Given the description of an element on the screen output the (x, y) to click on. 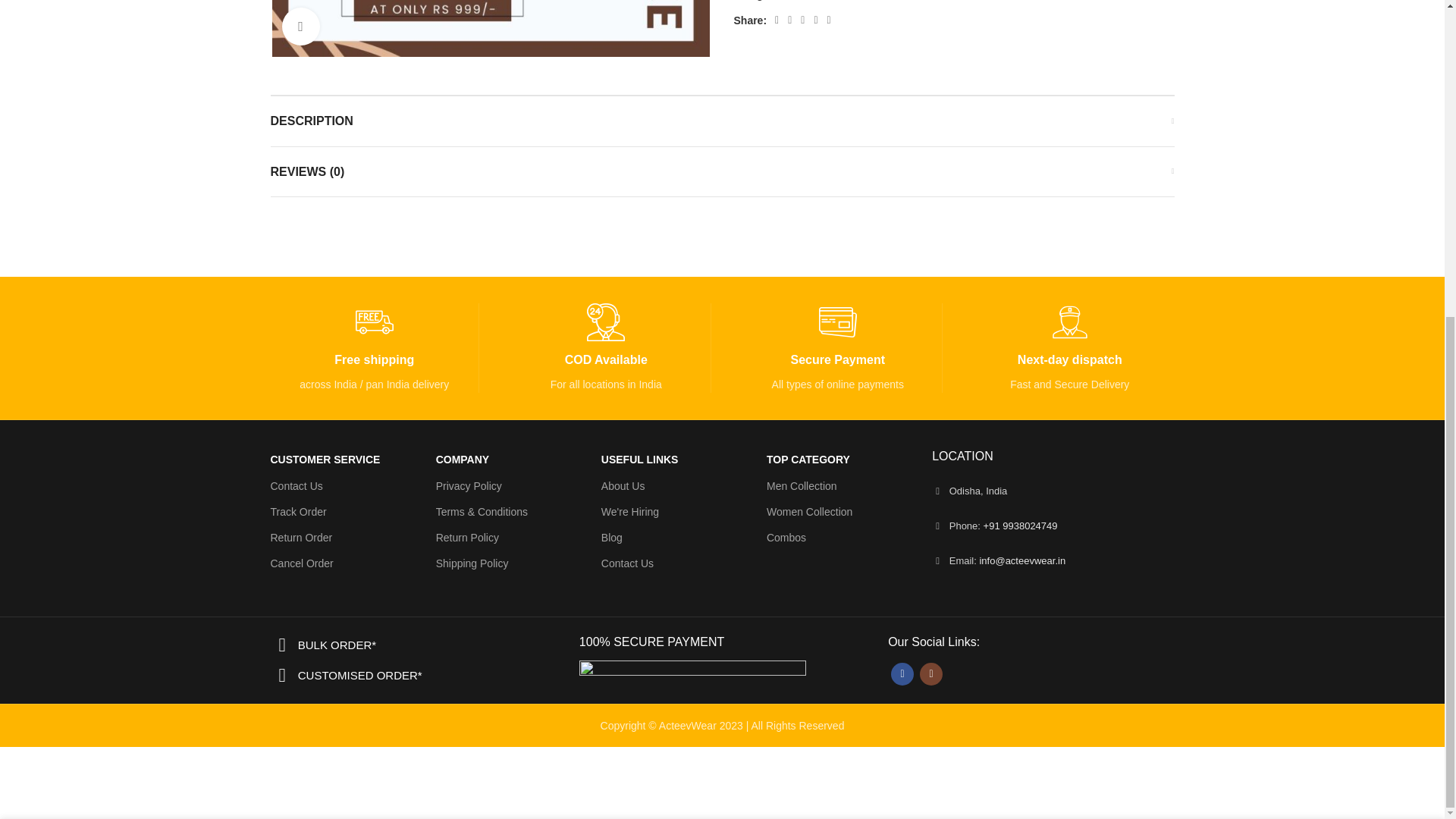
retail-free-shipping.png (374, 322)
Tights Combo (489, 28)
Created with Fabric.js 3.5.0 (1070, 322)
retail-247-1.png (605, 322)
